Given the description of an element on the screen output the (x, y) to click on. 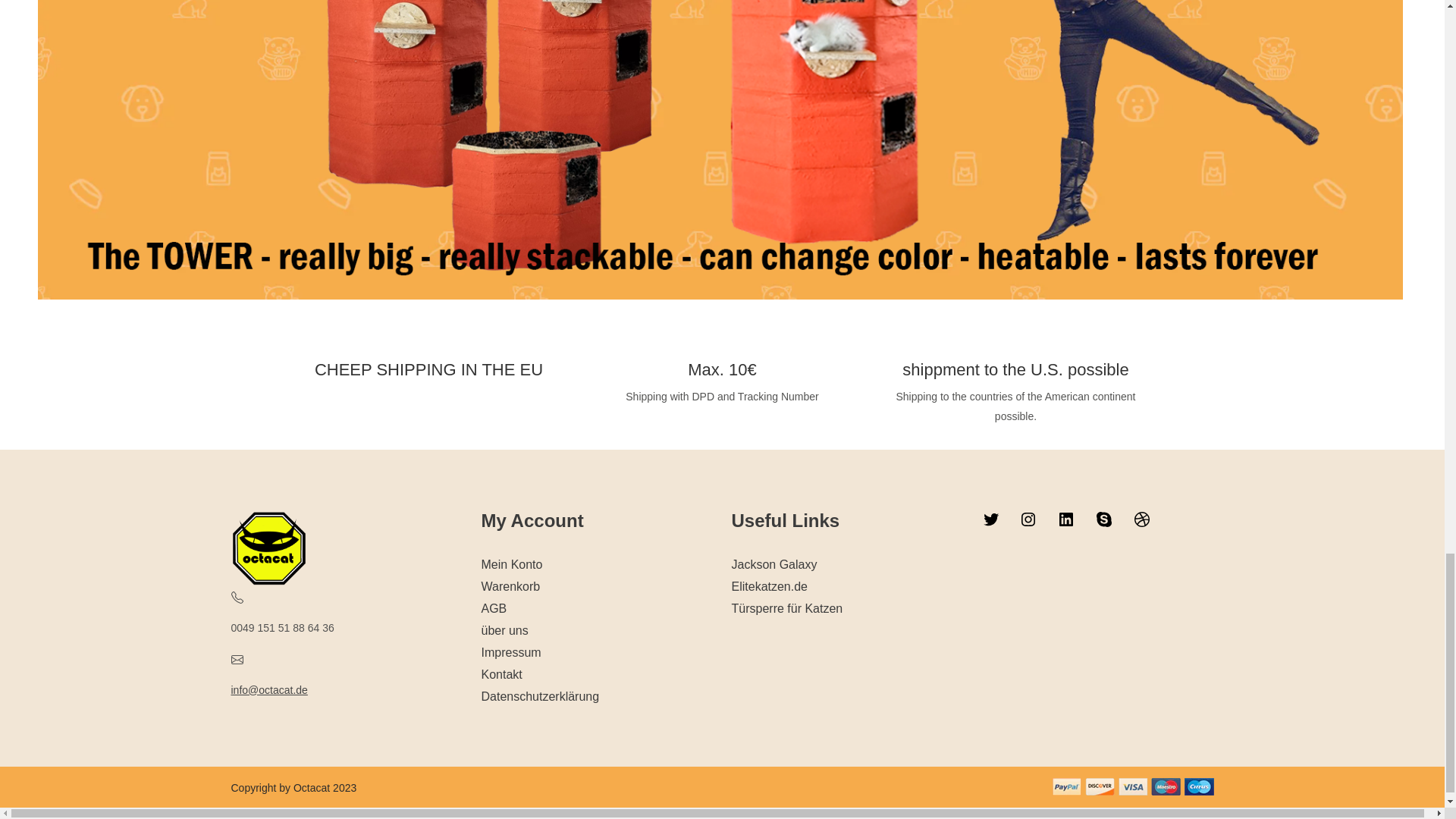
Skype (1103, 518)
Kontakt (500, 674)
Twitter (989, 518)
Impressum (510, 652)
LinkedIn (1066, 518)
AGB (493, 608)
Jackson Galaxy (773, 563)
Instagram (1027, 518)
Warenkorb (510, 585)
Dribbble (1141, 518)
Elitekatzen.de (769, 585)
Mein Konto (510, 563)
